Given the description of an element on the screen output the (x, y) to click on. 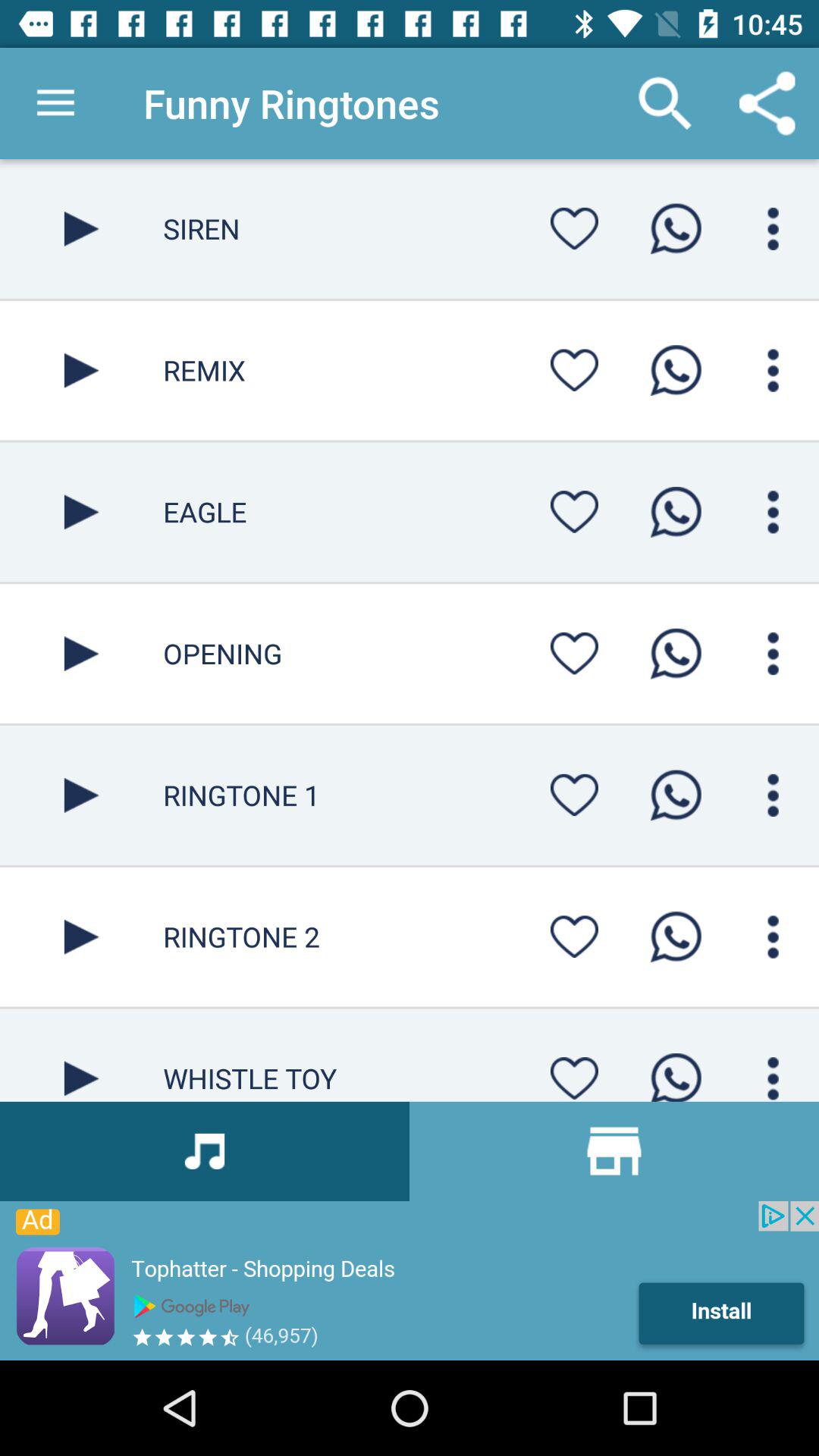
mune button (773, 1074)
